Given the description of an element on the screen output the (x, y) to click on. 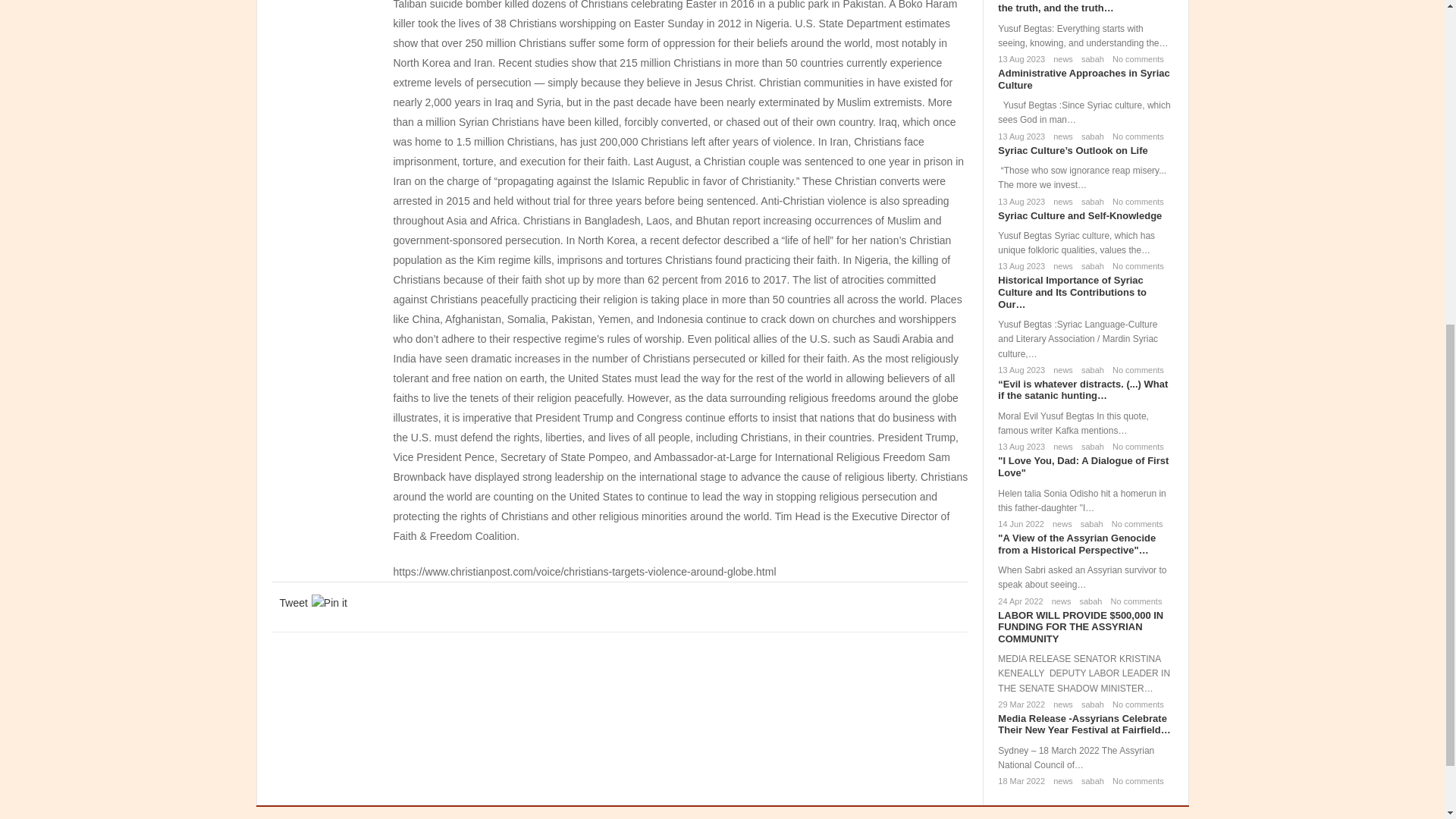
Pin it (329, 602)
I Love You, Dad: A Dialogue of First Love (1083, 466)
Tweet (293, 602)
Administrative Approaches in Syriac Culture (1083, 78)
